Given the description of an element on the screen output the (x, y) to click on. 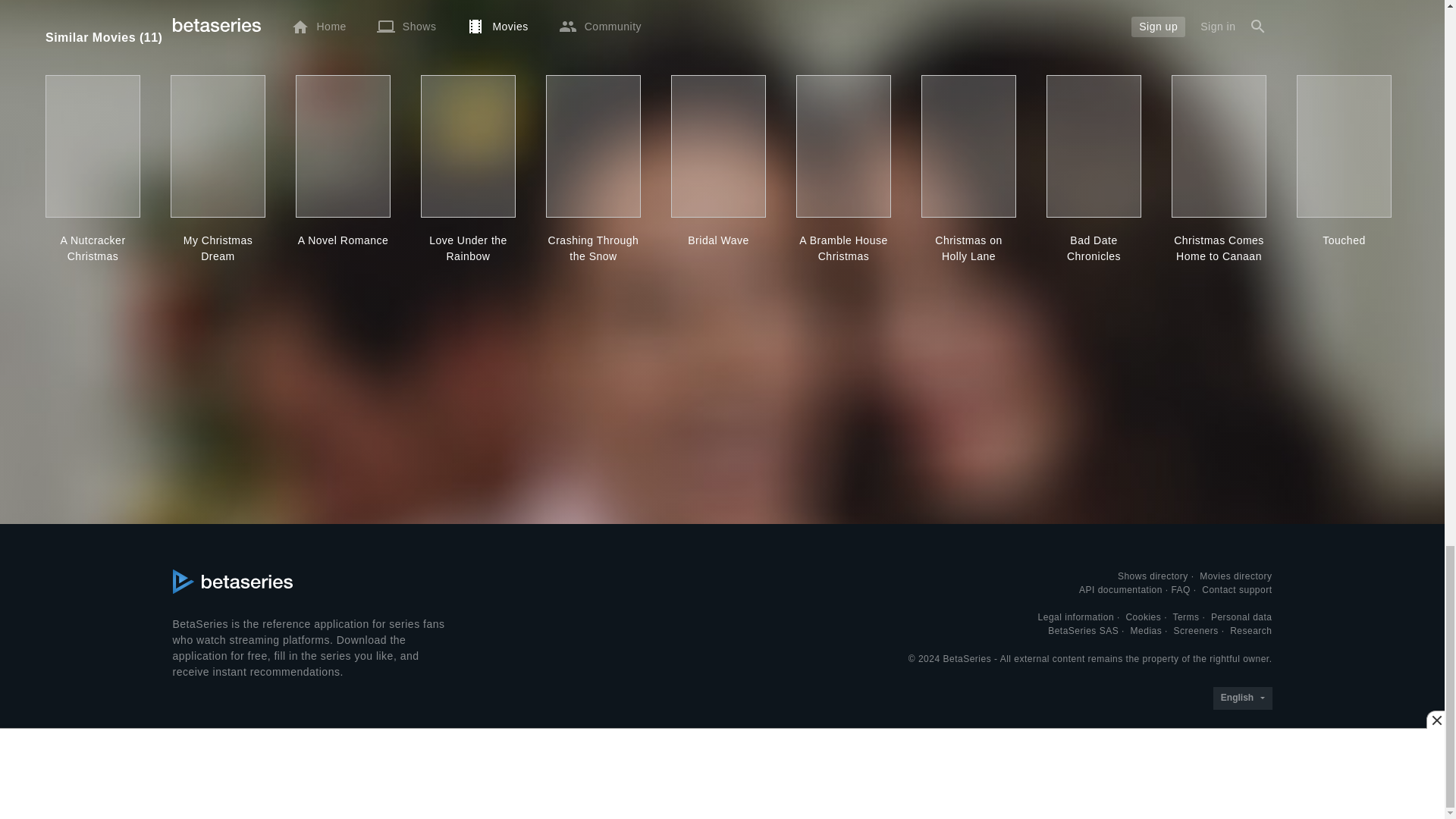
Love Under the Rainbow (467, 248)
A Novel Romance (342, 240)
A Bramble House Christmas (843, 248)
Christmas Comes Home to Canaan (1219, 248)
My Christmas Dream (217, 248)
Christmas on Holly Lane (968, 248)
Crashing Through the Snow (593, 248)
A Nutcracker Christmas (92, 248)
Touched (1344, 240)
Bridal Wave (718, 240)
Bad Date Chronicles (1093, 248)
